Given the description of an element on the screen output the (x, y) to click on. 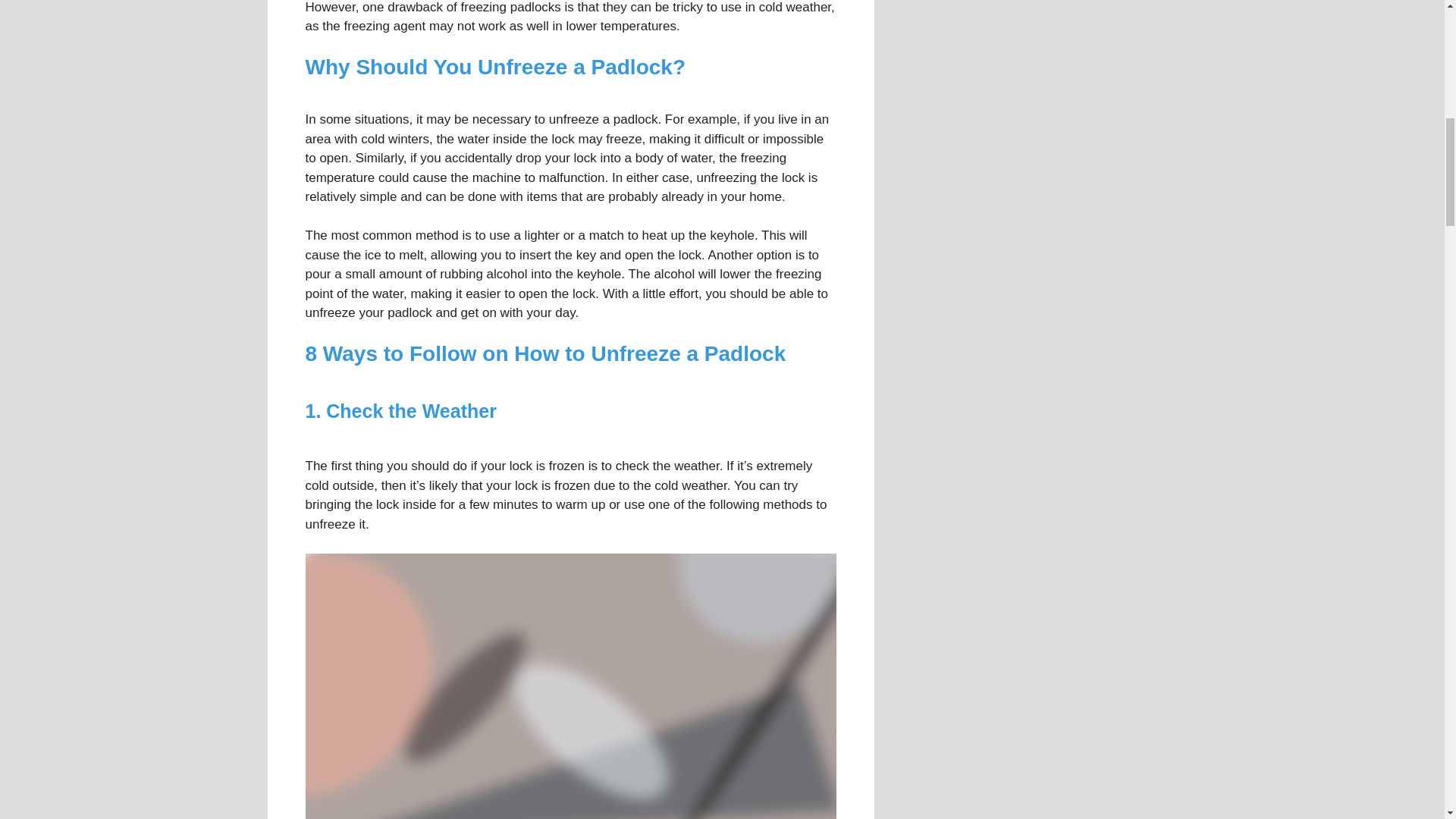
Scroll back to top (1406, 720)
